Given the description of an element on the screen output the (x, y) to click on. 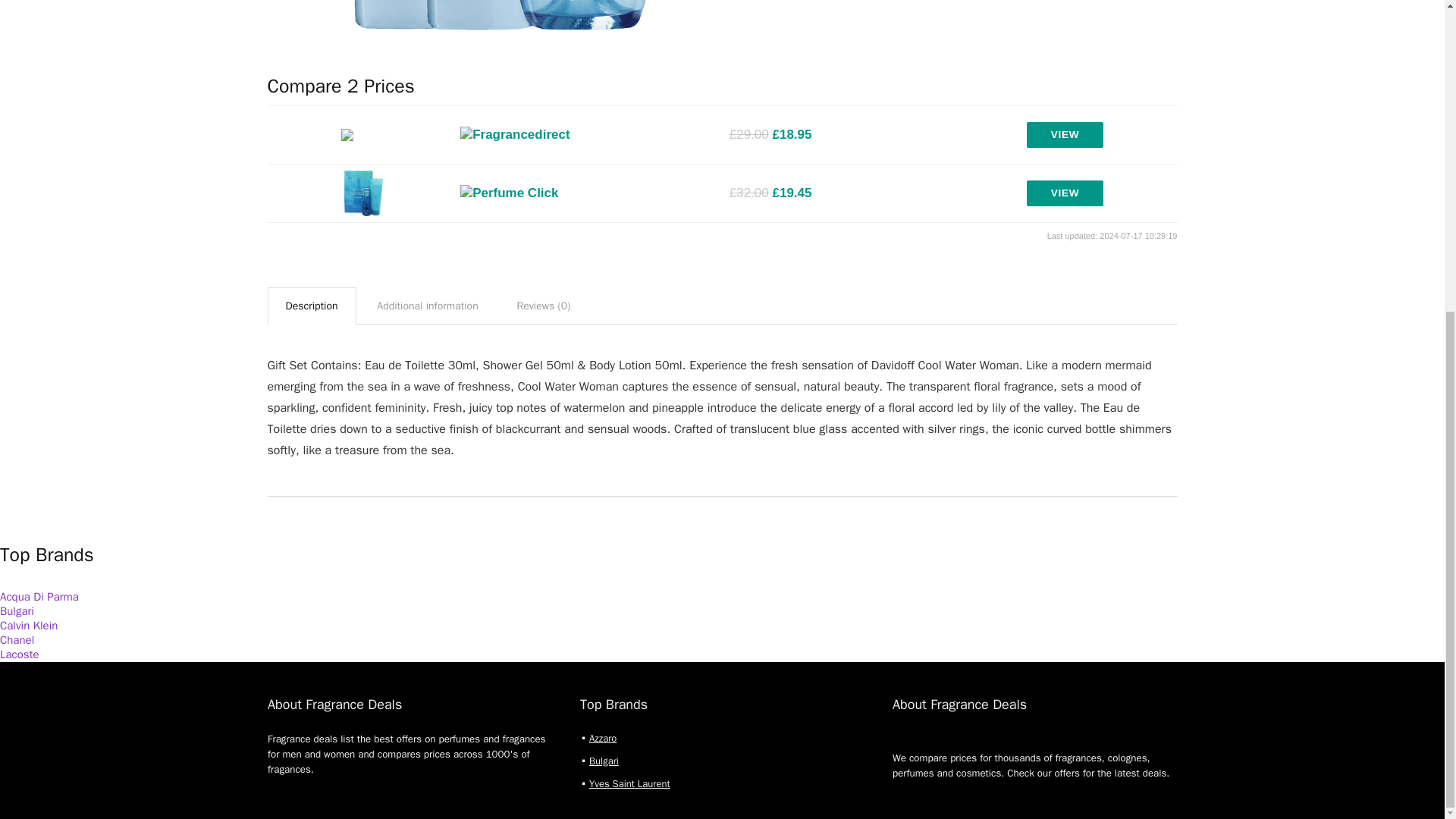
Yves Saint Laurent (629, 783)
Azzaro (602, 738)
Lacoste (19, 653)
Bulgari (603, 760)
Additional information (427, 306)
Acqua Di Parma (39, 596)
Fragrancedirect (515, 134)
Bulgari (16, 611)
Perfume Click (508, 193)
Calvin Klein (29, 625)
Description (310, 306)
Davidoff Cool Water Woman Gift Set 30ml (485, 29)
Chanel (16, 640)
